Given the description of an element on the screen output the (x, y) to click on. 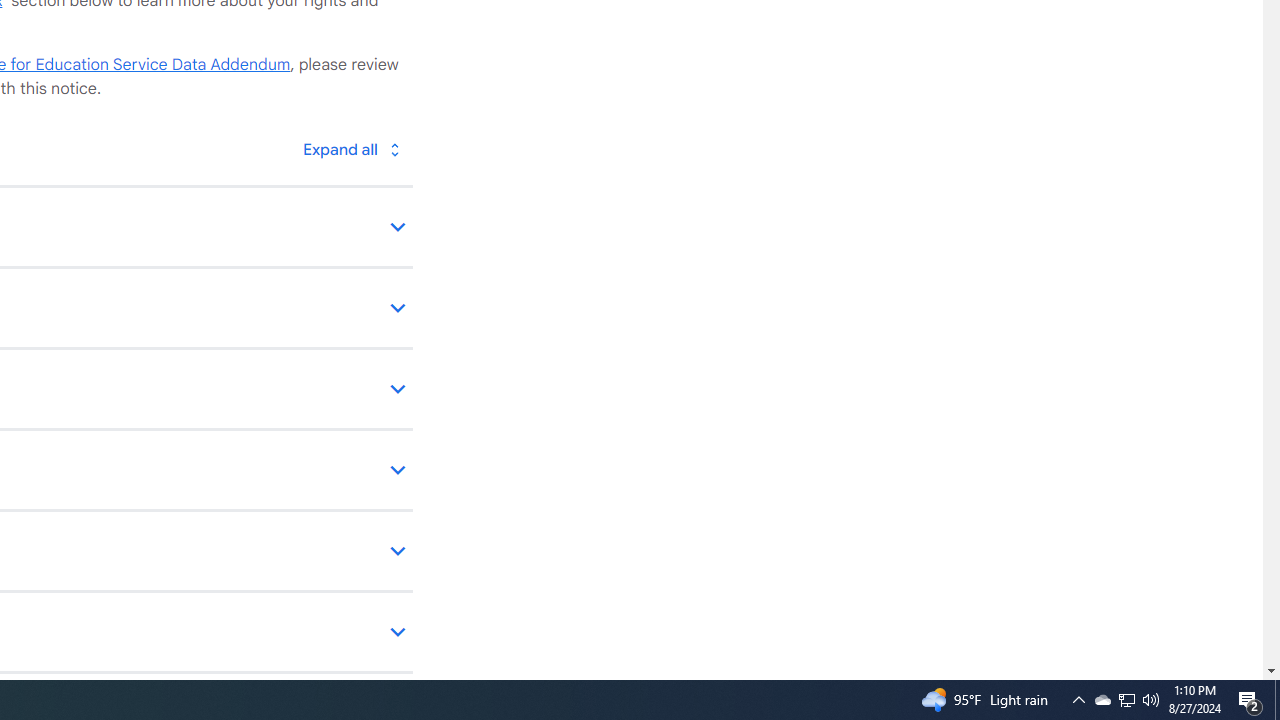
Toggle all (351, 148)
